Given the description of an element on the screen output the (x, y) to click on. 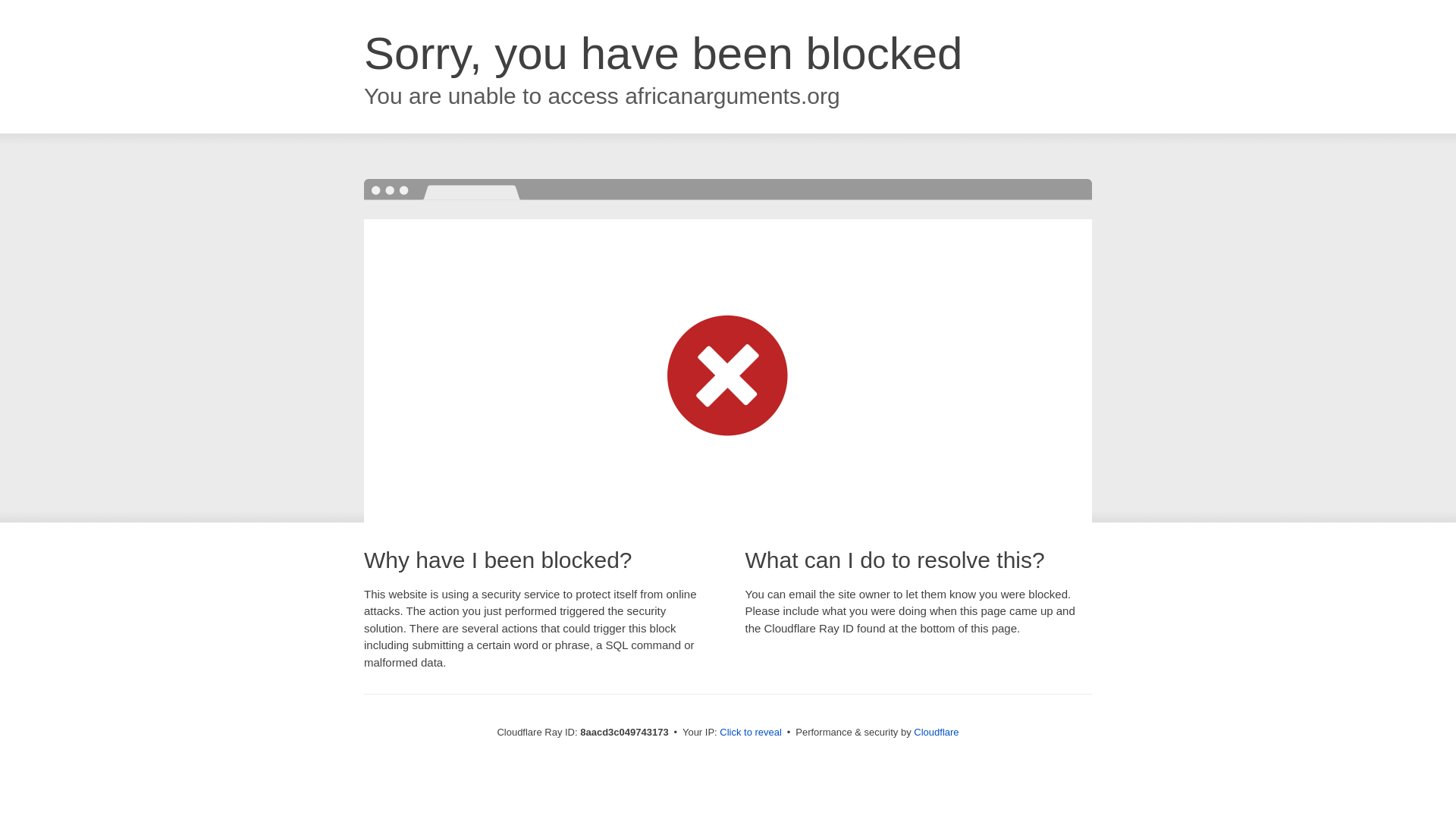
Click to reveal (750, 732)
Cloudflare (936, 731)
